Given the description of an element on the screen output the (x, y) to click on. 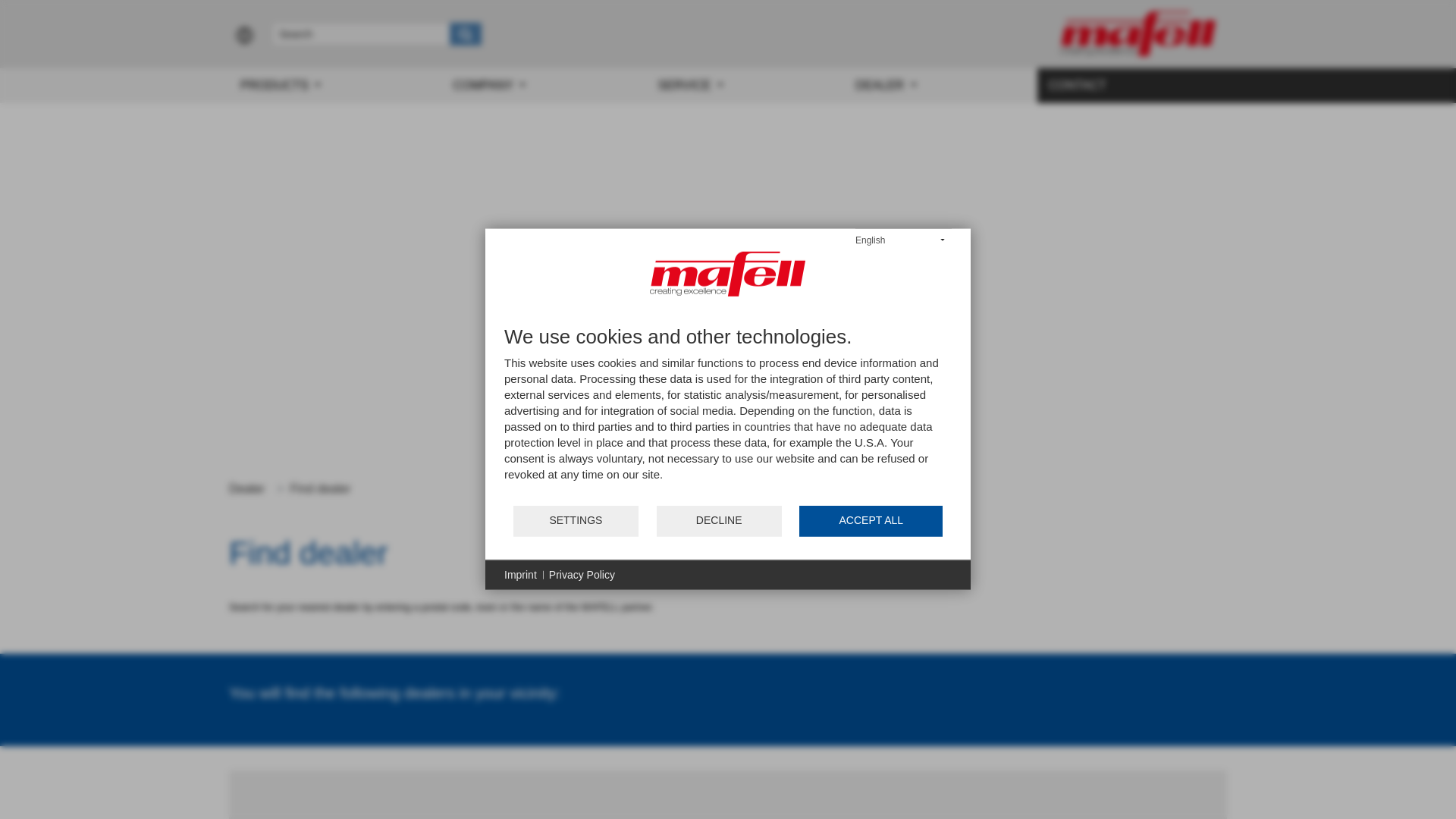
COMPANY  (543, 85)
PRODUCTS  (334, 85)
SERVICE  (745, 85)
CONTACT (1131, 85)
DEALER  (940, 85)
